Given the description of an element on the screen output the (x, y) to click on. 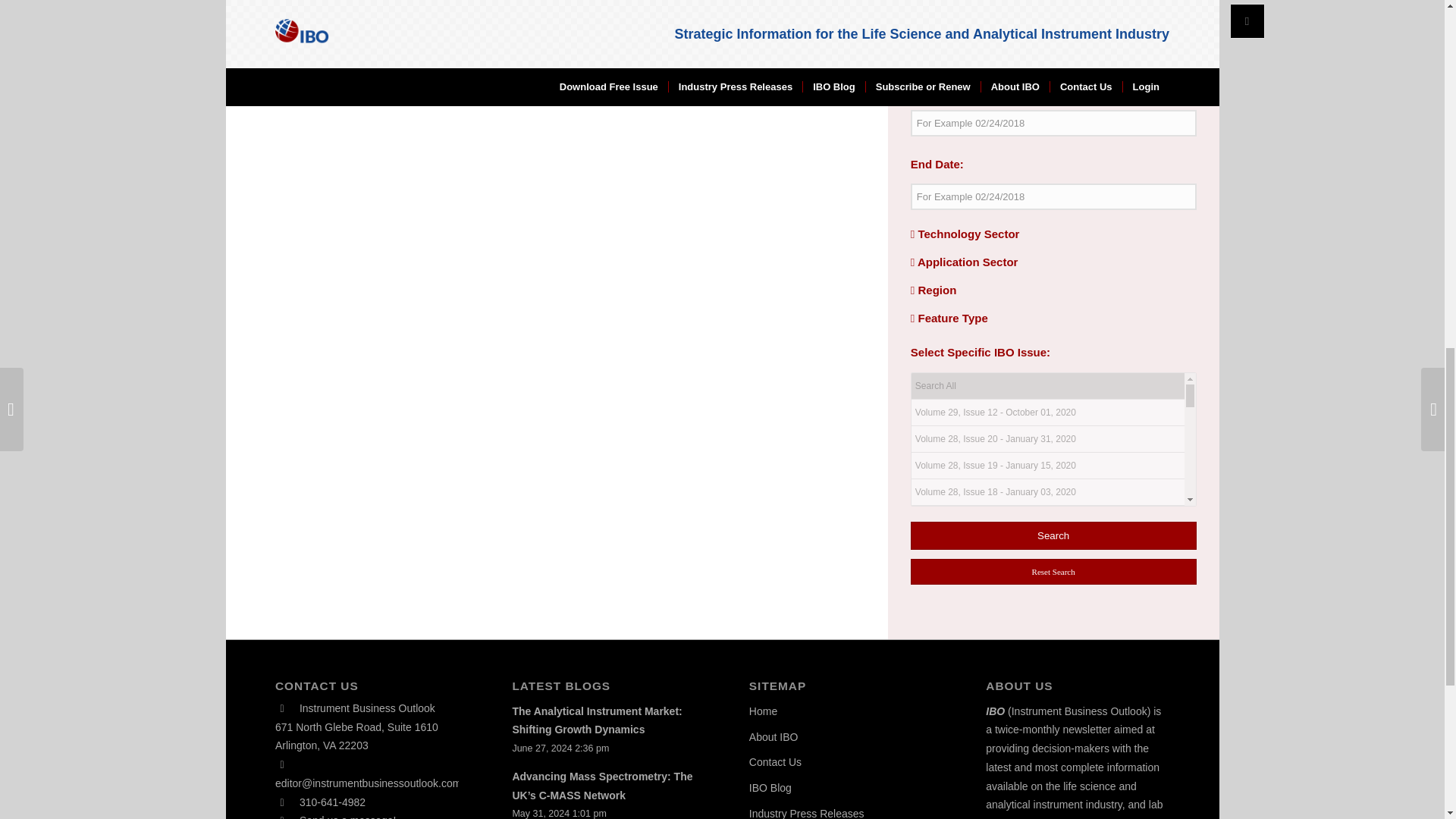
Feature Type (949, 318)
Region (933, 289)
The Analytical Instrument Market: Shifting Growth Dynamics (596, 720)
